Given the description of an element on the screen output the (x, y) to click on. 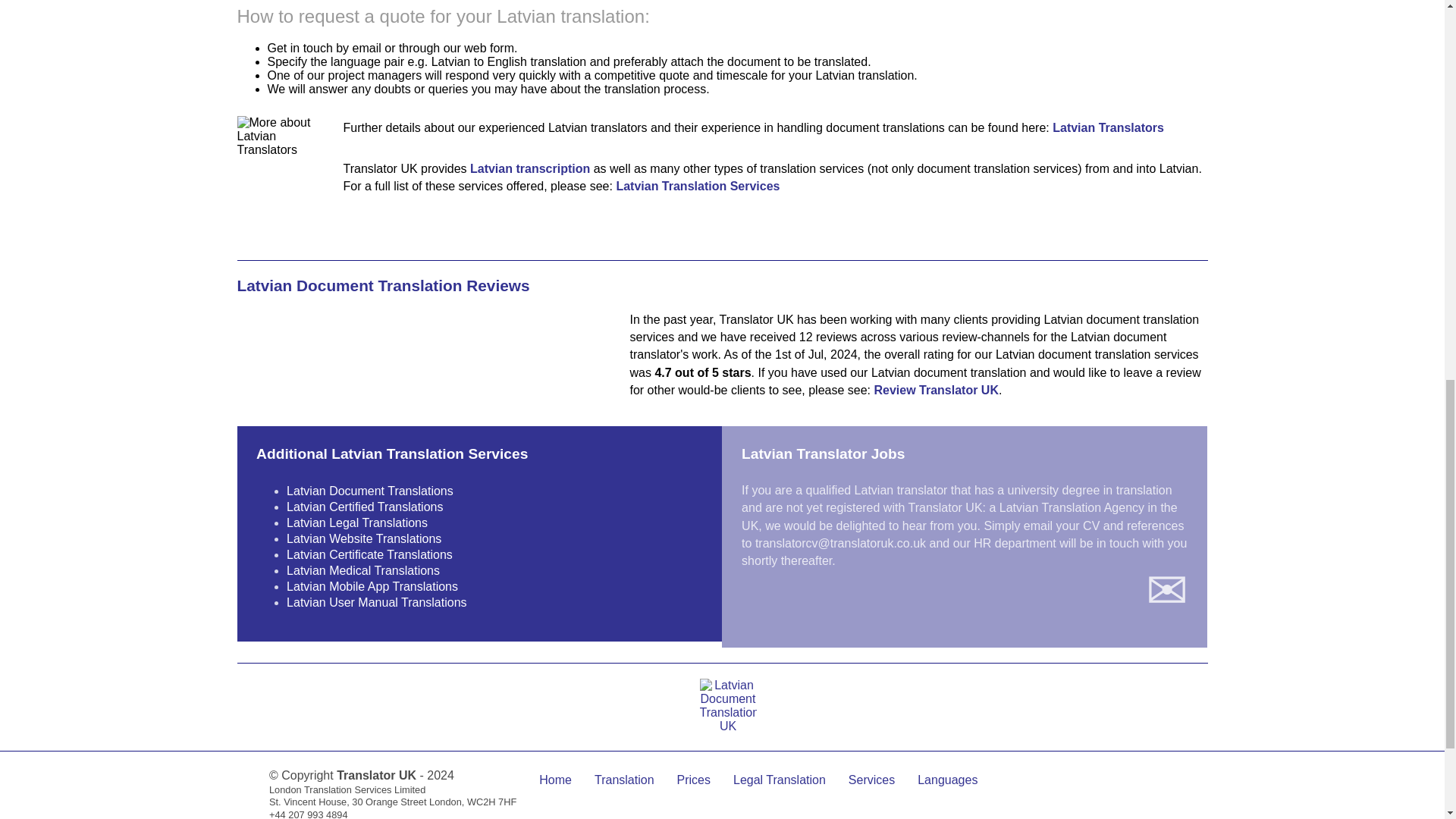
Latvian Certified Translations (364, 506)
English to Latvian translation services (696, 185)
Legal Translation (779, 779)
Latvian User Manual Translations (375, 602)
Latvian Certificate Translations (369, 554)
Services (871, 779)
Latvian Website Translations (363, 538)
Home (555, 779)
Latvian Legal Translations (357, 522)
Latvian transcription services (529, 168)
Latvian Translators (1107, 127)
English to Latvian translators (1107, 127)
Review Translator UK (935, 390)
Languages (946, 779)
Latvian transcription (529, 168)
